Given the description of an element on the screen output the (x, y) to click on. 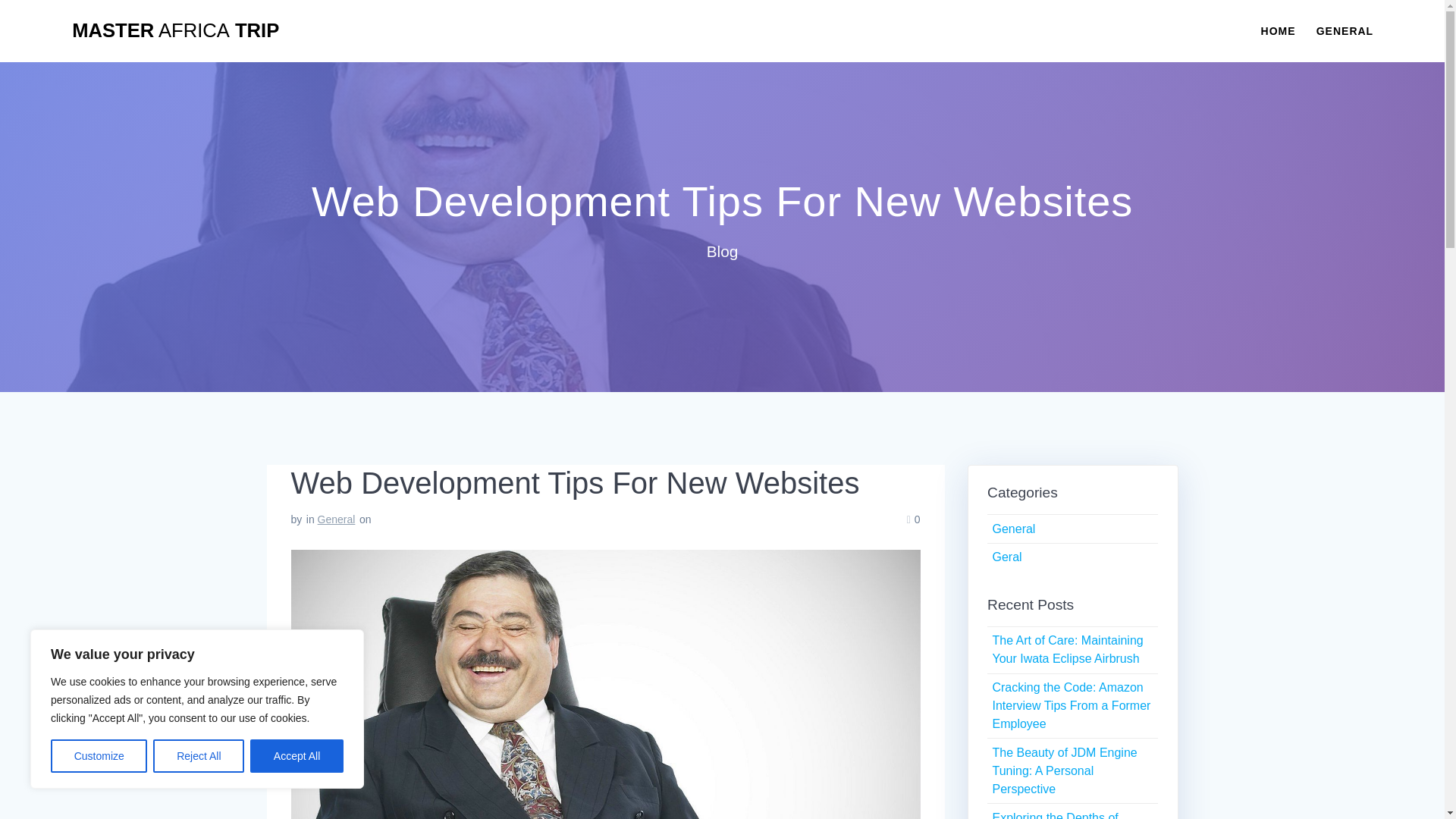
Reject All (198, 756)
HOME (1277, 30)
Customize (98, 756)
General (1013, 528)
The Beauty of JDM Engine Tuning: A Personal Perspective (1064, 770)
GENERAL (1344, 30)
General (336, 519)
Accept All (296, 756)
